Given the description of an element on the screen output the (x, y) to click on. 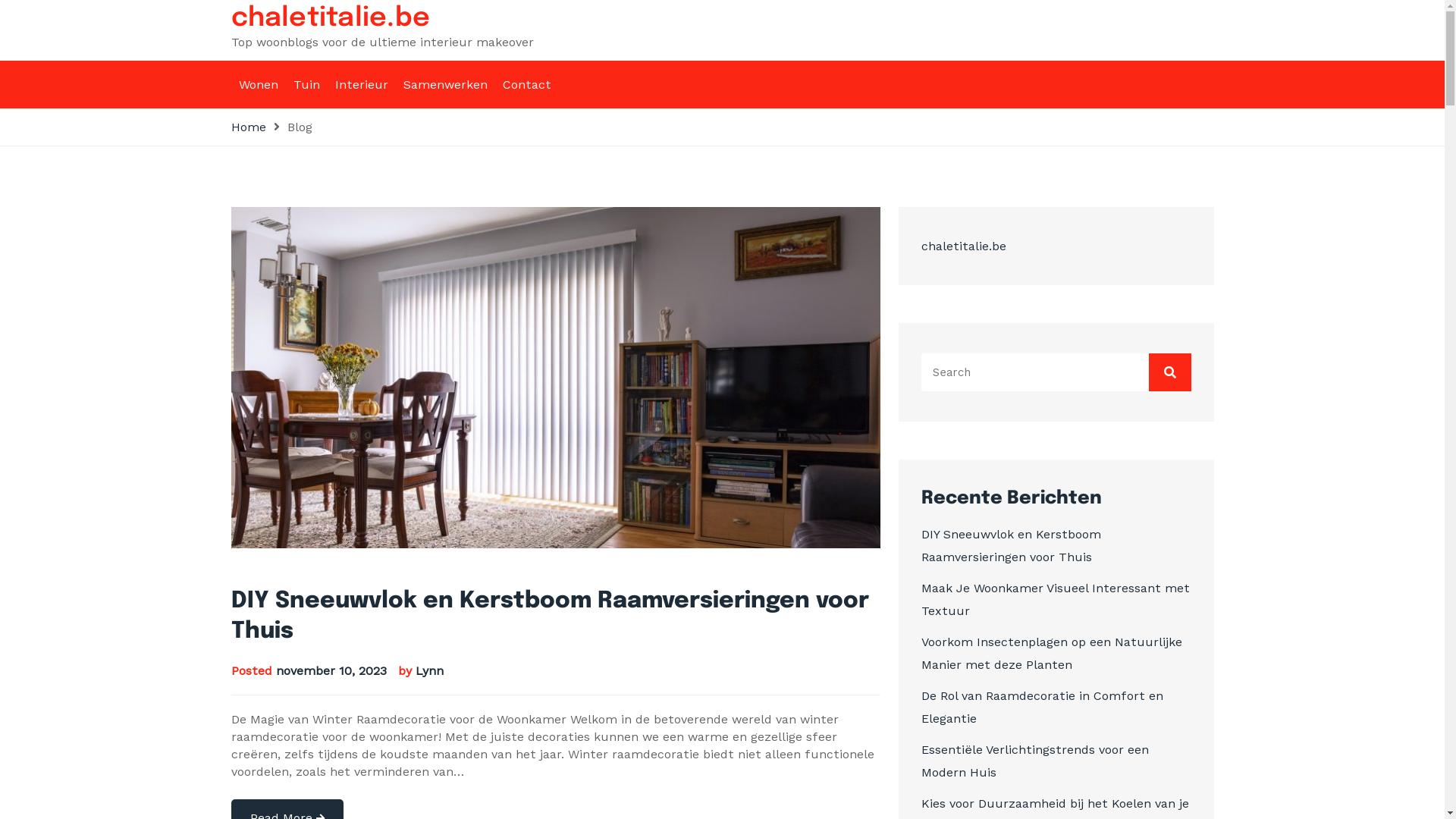
Home Element type: text (247, 126)
november 10, 2023 Element type: text (331, 670)
De Rol van Raamdecoratie in Comfort en Elegantie Element type: text (1041, 706)
Samenwerken Element type: text (445, 84)
Maak Je Woonkamer Visueel Interessant met Textuur Element type: text (1054, 599)
Search for: Element type: hover (1055, 372)
Lynn Element type: text (429, 670)
chaletitalie.be Element type: text (329, 17)
DIY Sneeuwvlok en Kerstboom Raamversieringen voor Thuis Element type: text (1010, 545)
Interieur Element type: text (361, 84)
chaletitalie.be Element type: text (962, 245)
Tuin Element type: text (305, 84)
Wonen Element type: text (257, 84)
DIY Sneeuwvlok en Kerstboom Raamversieringen voor Thuis Element type: text (549, 616)
Contact Element type: text (526, 84)
